Given the description of an element on the screen output the (x, y) to click on. 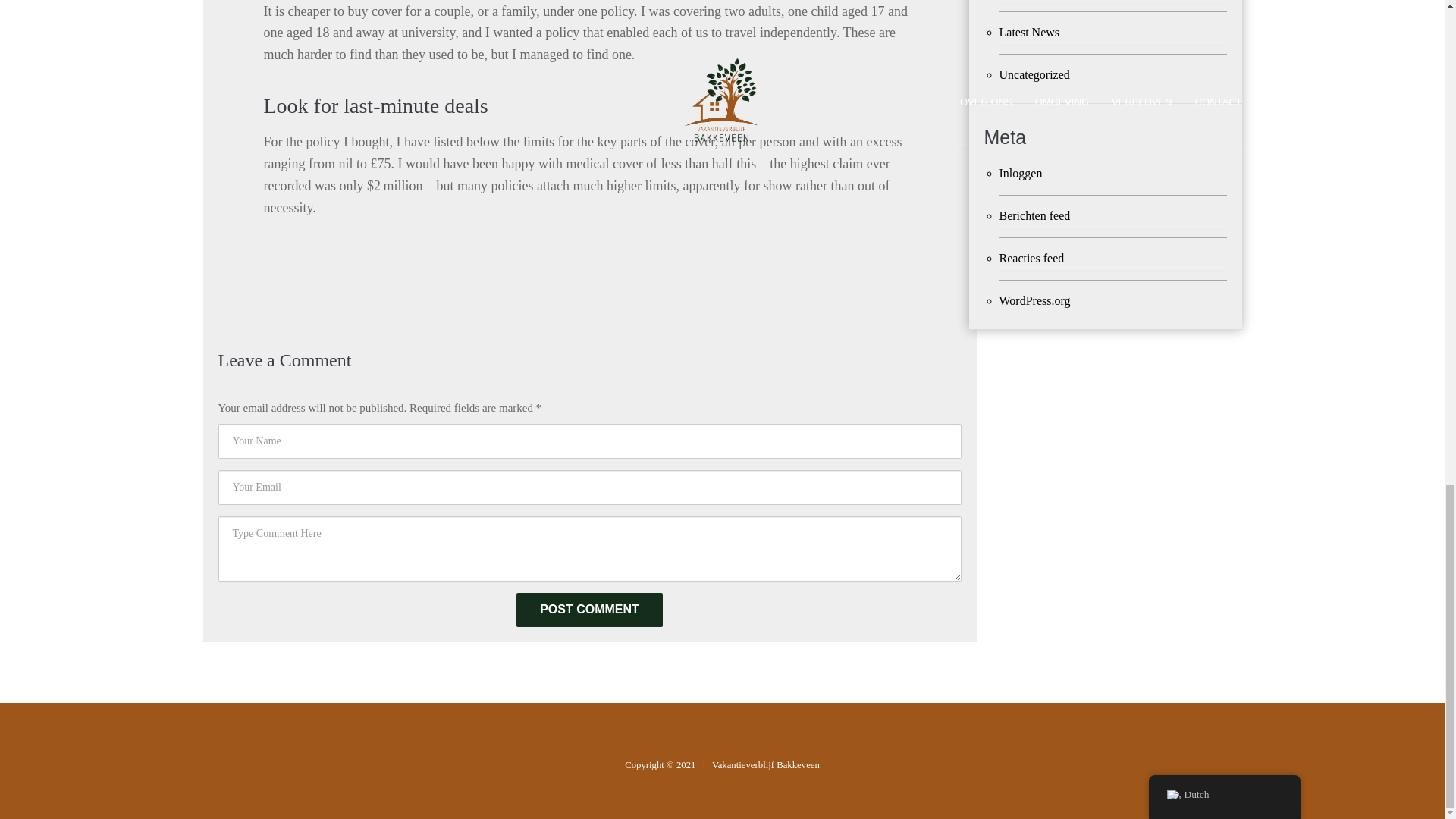
Uncategorized (1112, 74)
Inloggen (1112, 173)
Reacties feed (1112, 258)
WordPress.org (1112, 300)
Latest News (1112, 32)
Events (1112, 2)
POST COMMENT (589, 609)
Berichten feed (1112, 216)
